Given the description of an element on the screen output the (x, y) to click on. 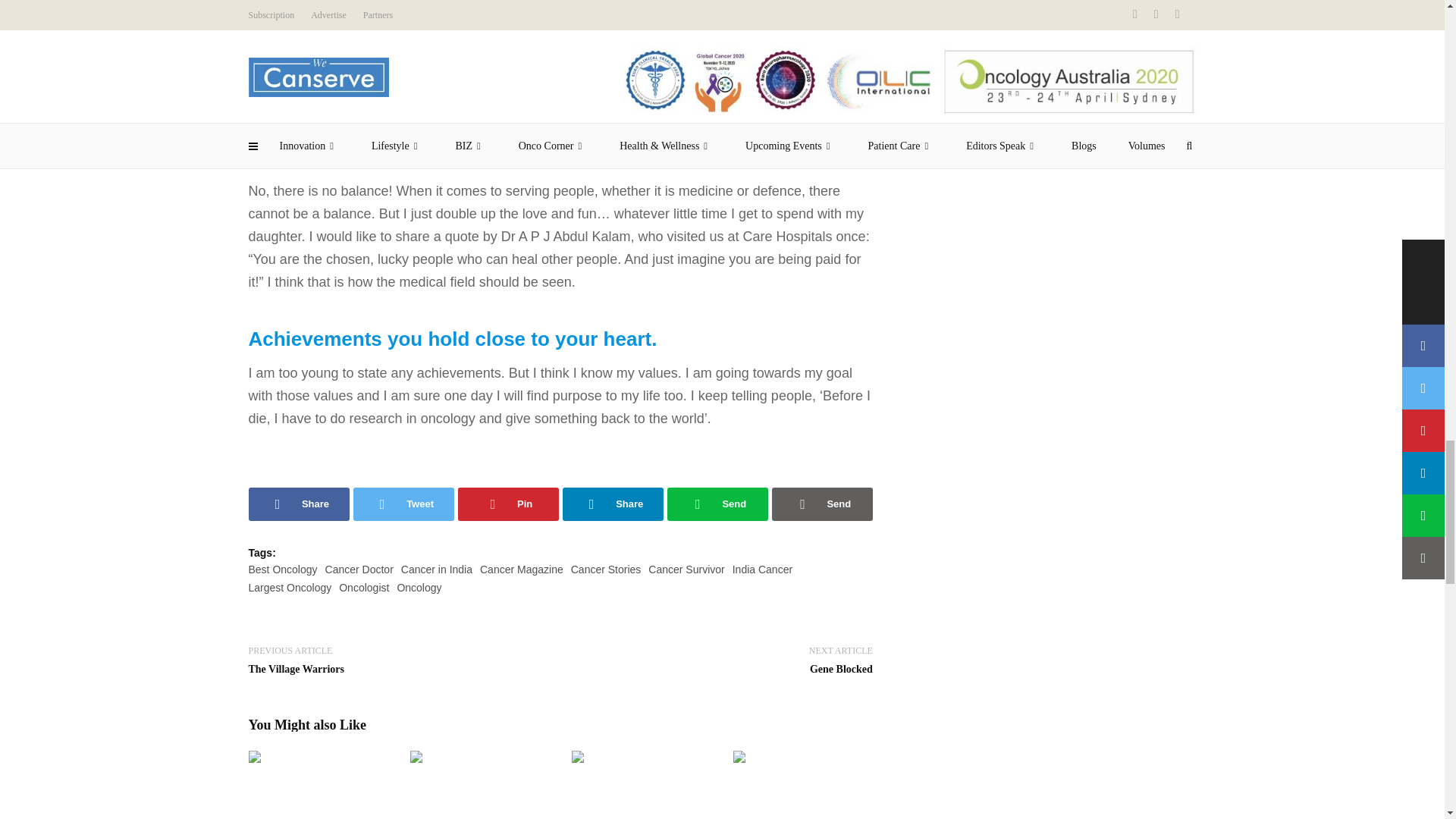
You must know these 5 Simple yoga for sleep troubles 3 (641, 785)
Six pack abs - 6 Reasons why you should never aim for it! 2 (479, 785)
